Given the description of an element on the screen output the (x, y) to click on. 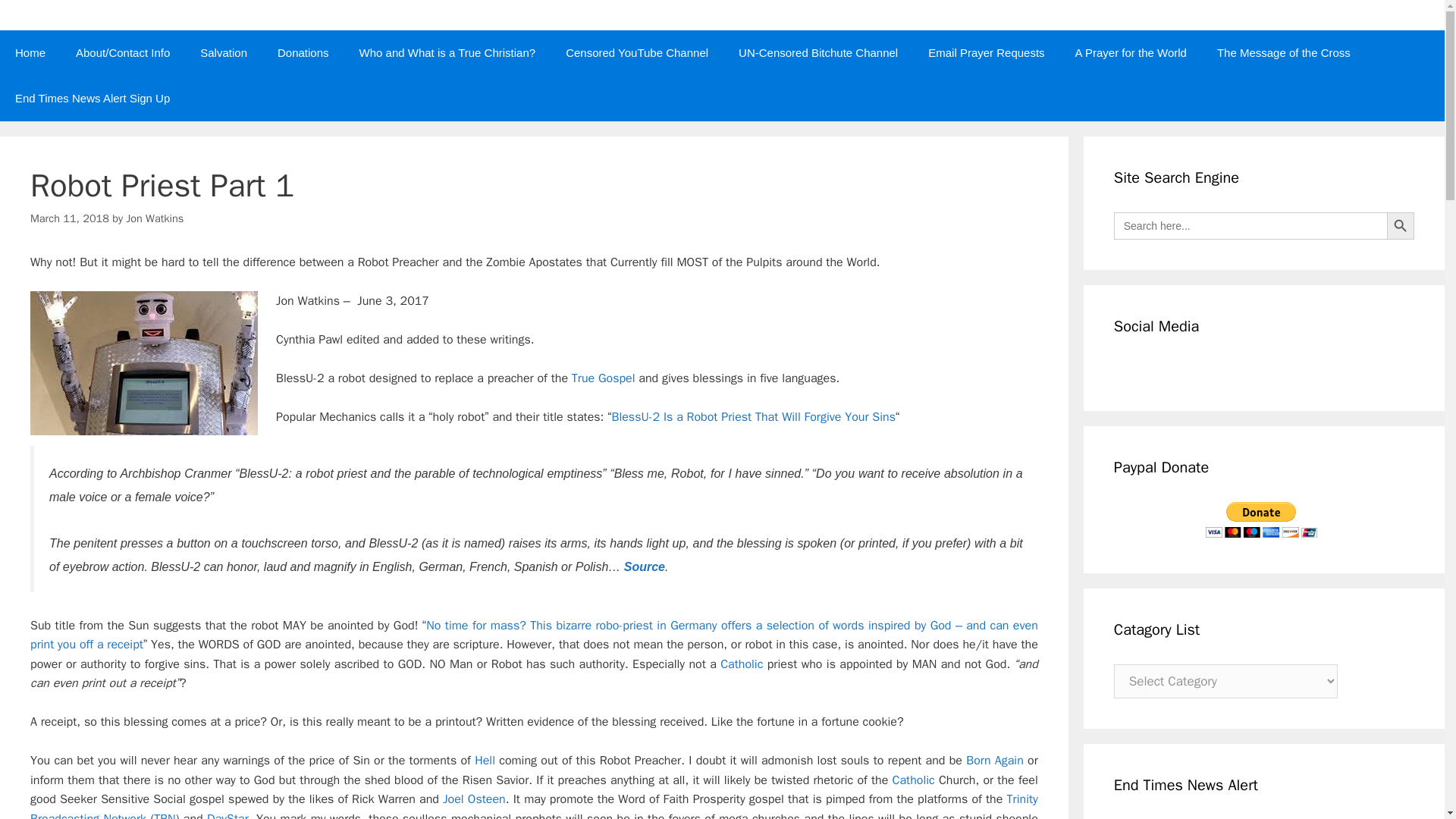
Hell (484, 760)
Donations (302, 53)
Who and What is a True Christian? (447, 53)
Who is a True Christian.. Biblically! (447, 53)
Email Prayer Requests (985, 53)
Catholic (913, 780)
True Gospel (603, 378)
Catholic (741, 663)
UN-Censored Bitchute Channel (817, 53)
View all posts by Jon Watkins (154, 218)
The Message of the Cross (1283, 53)
BlessU-2 Is a Robot Priest That Will Forgive Your Sins (753, 417)
Please chip in a few Bucks to help spread the Gospel (302, 53)
Salvation (223, 53)
Born Again (994, 760)
